Given the description of an element on the screen output the (x, y) to click on. 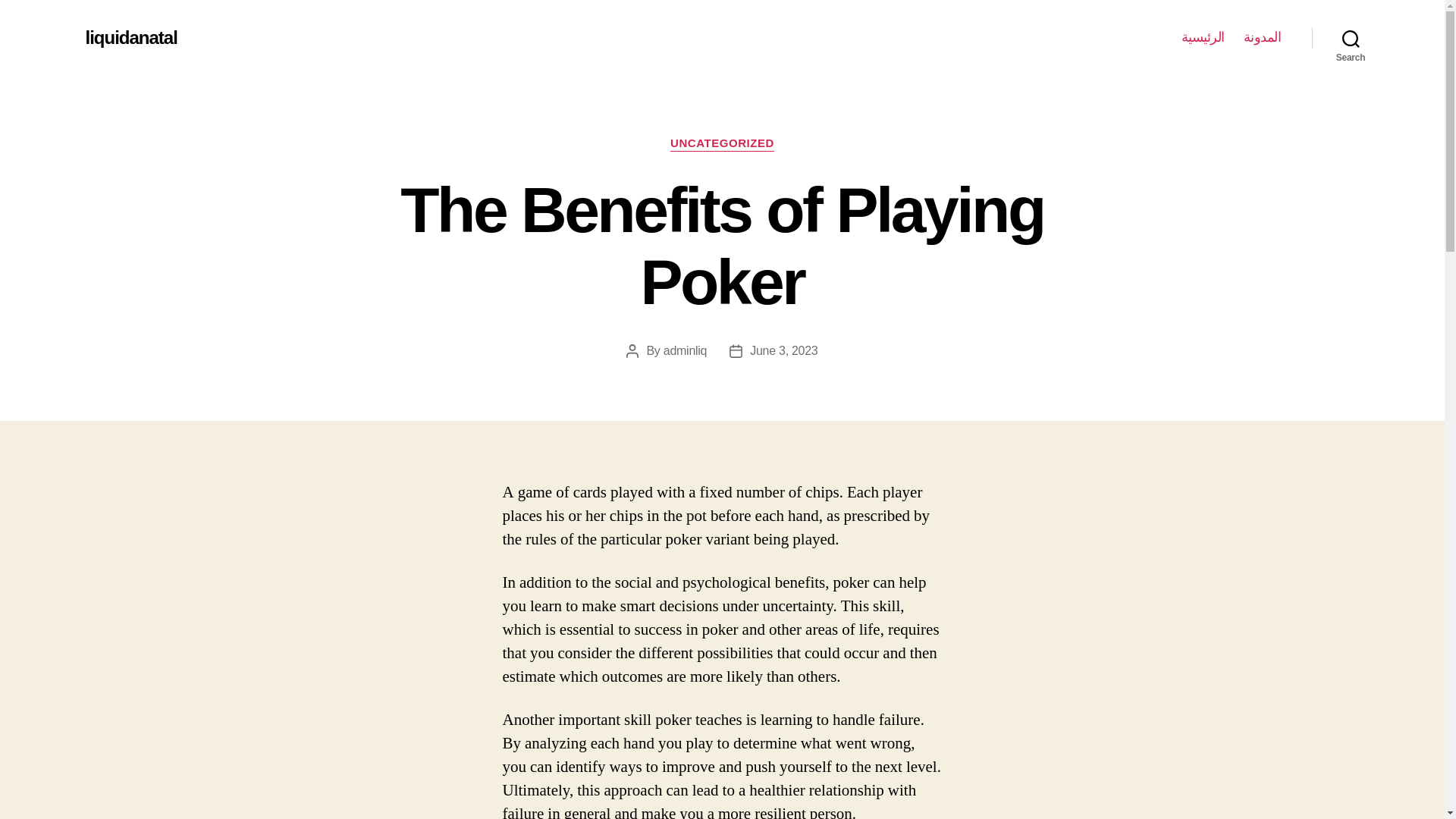
adminliq (684, 350)
liquidanatal (130, 37)
June 3, 2023 (782, 350)
Search (1350, 37)
UNCATEGORIZED (721, 143)
